Given the description of an element on the screen output the (x, y) to click on. 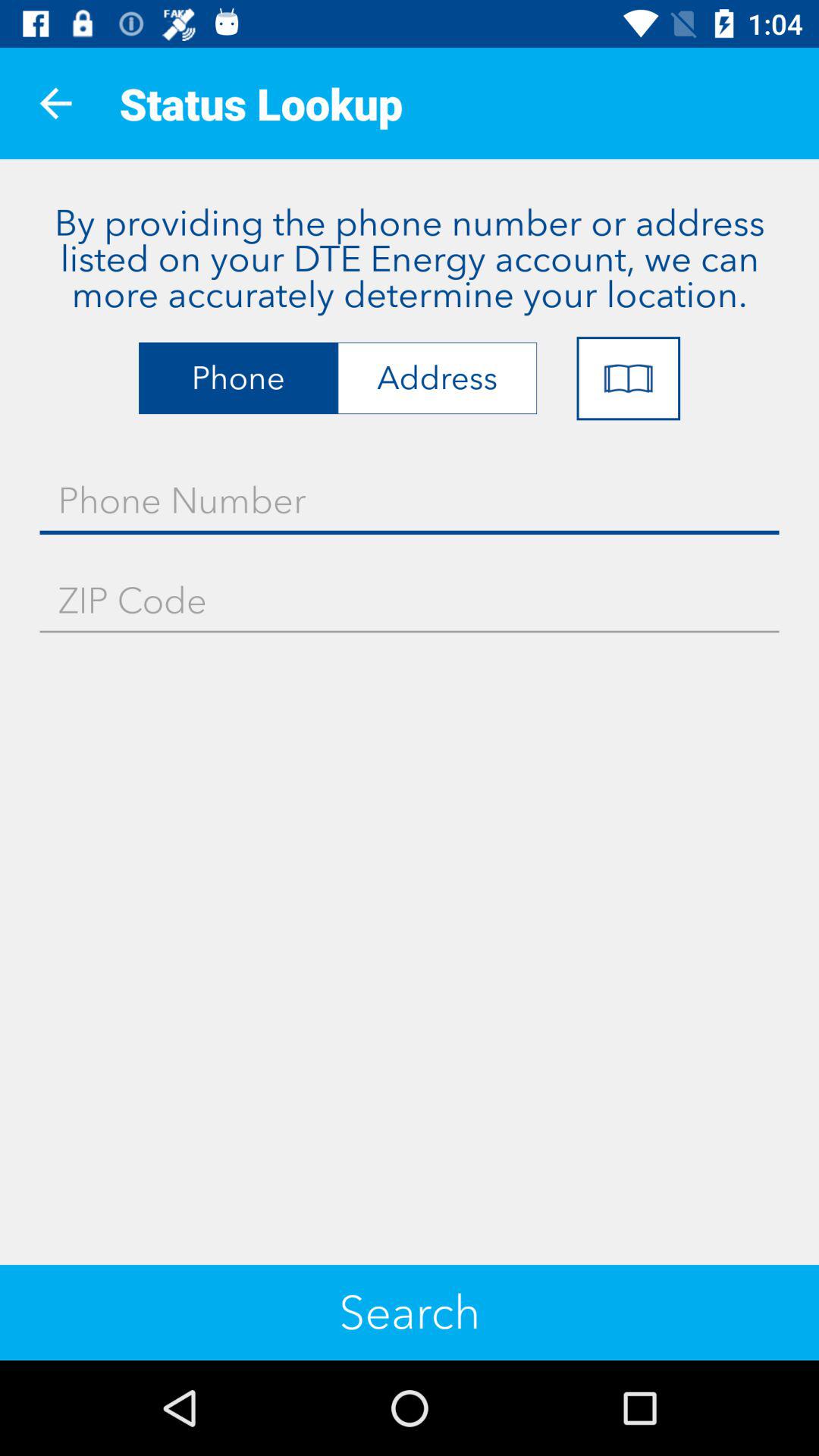
choose item next to the address item (628, 378)
